Given the description of an element on the screen output the (x, y) to click on. 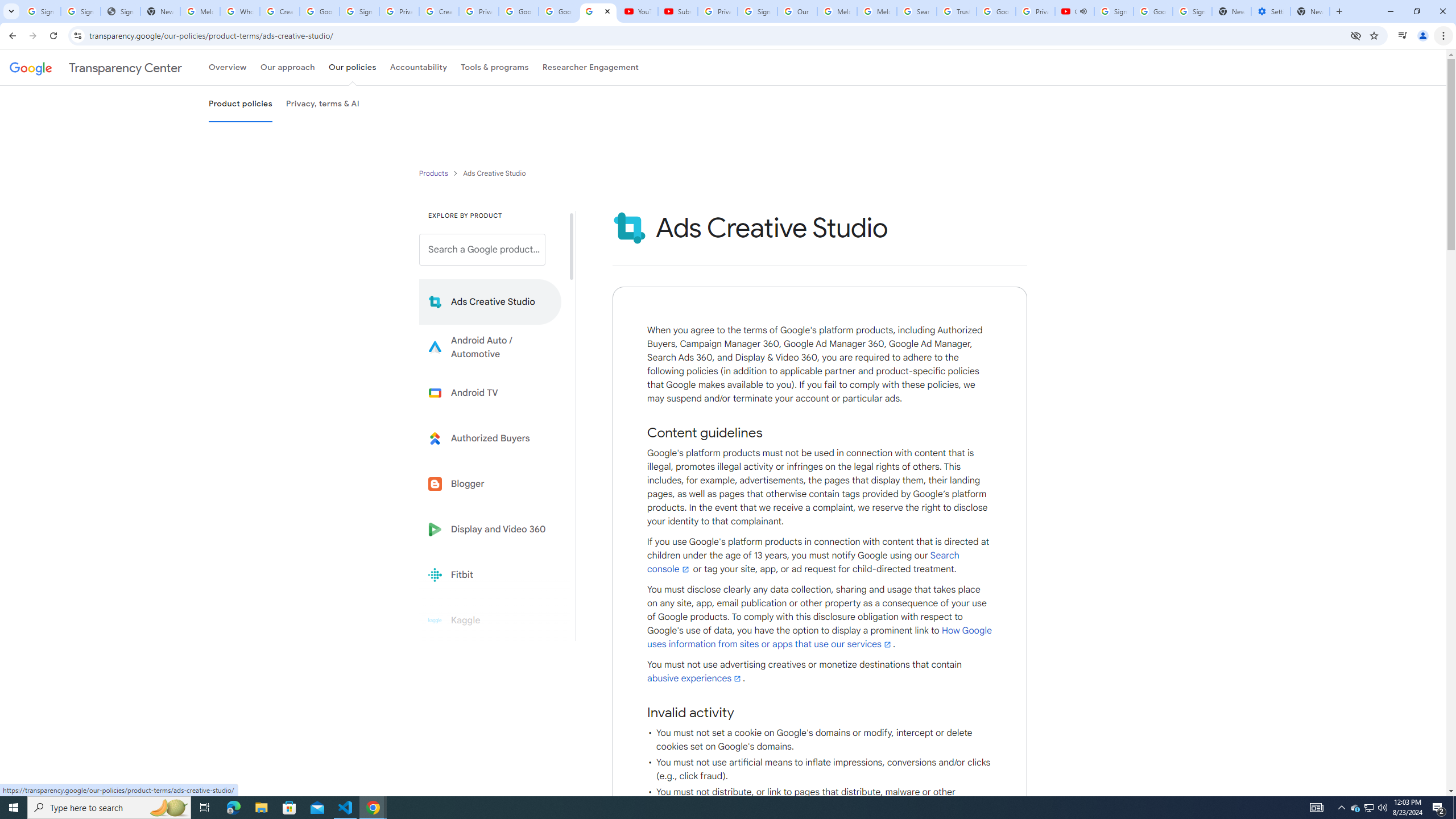
Sign in - Google Accounts (1192, 11)
Display and Video 360 (490, 529)
Kaggle (490, 619)
Transparency Center (95, 67)
Subscriptions - YouTube (677, 11)
Search a Google product from below list. (481, 249)
Learn more about Android TV (490, 393)
Researcher Engagement (590, 67)
